Given the description of an element on the screen output the (x, y) to click on. 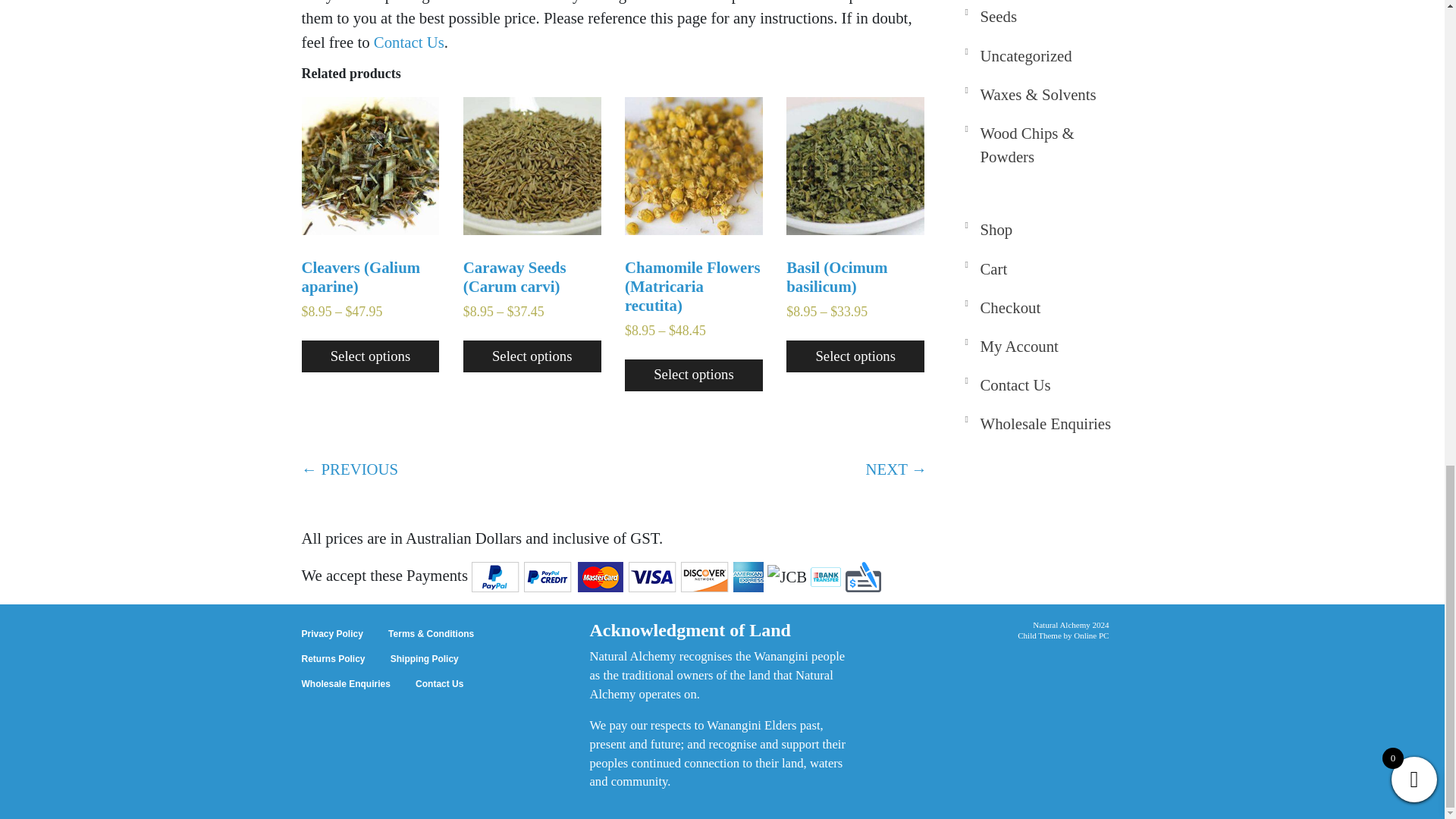
Select options (532, 356)
Contact Us (409, 41)
Cheque (862, 576)
Direct Deposit (825, 576)
Select options (370, 356)
Select options (693, 375)
